Given the description of an element on the screen output the (x, y) to click on. 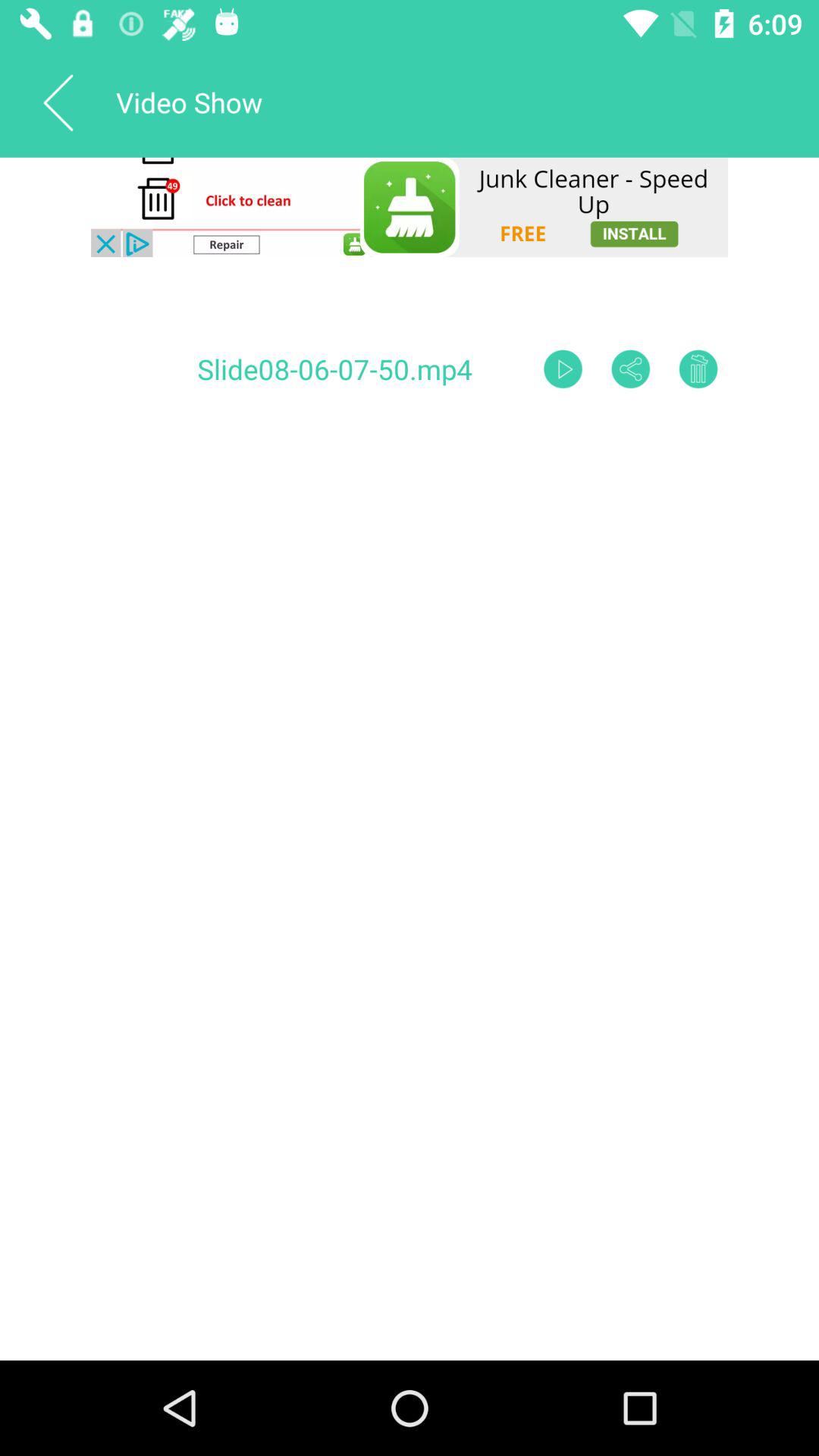
advance screen (562, 369)
